Given the description of an element on the screen output the (x, y) to click on. 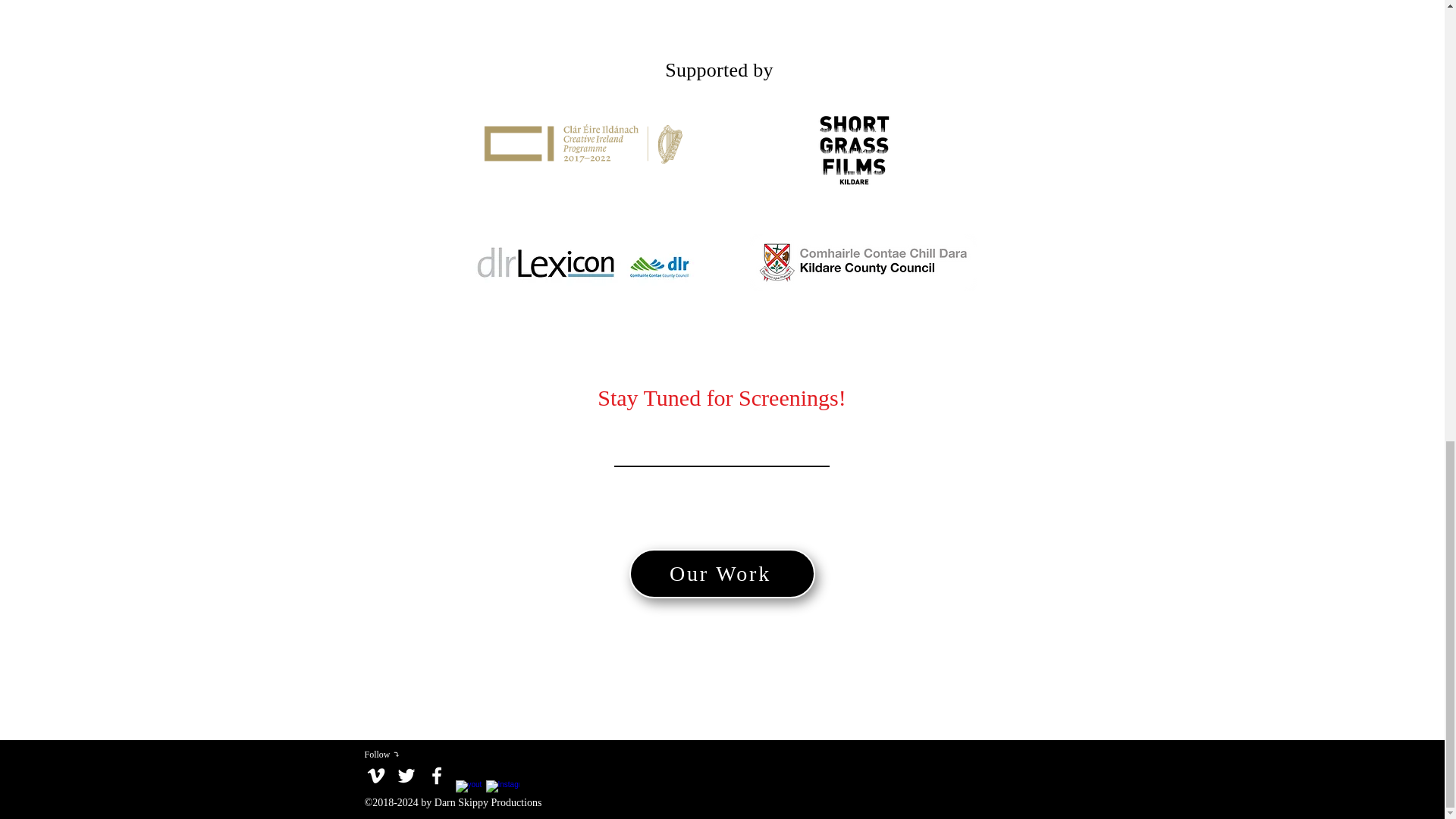
Our Work (721, 573)
